Given the description of an element on the screen output the (x, y) to click on. 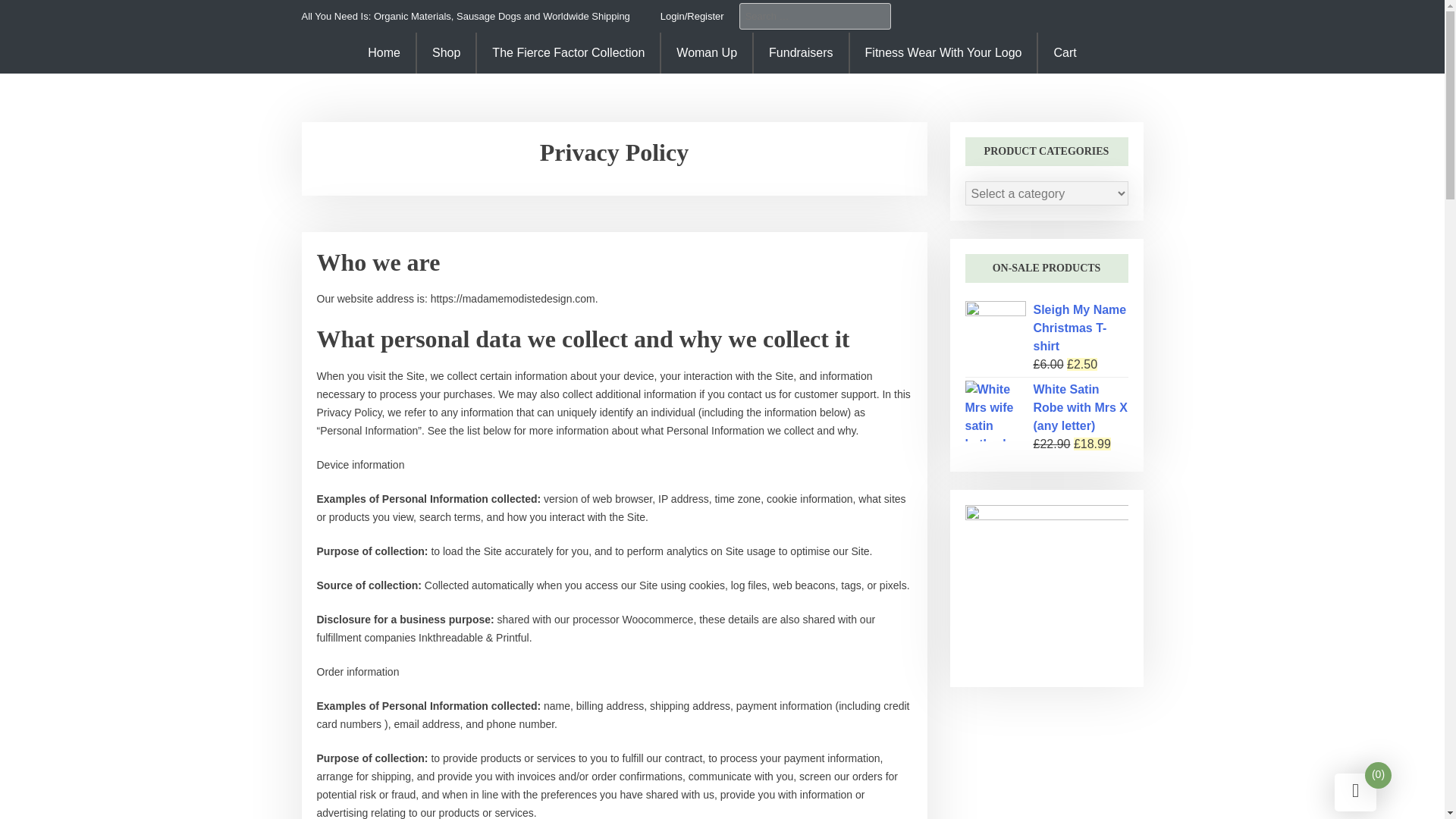
Shop (446, 52)
The Fierce Factor Collection (568, 52)
Home (384, 52)
Cart (1063, 52)
Woman Up (706, 52)
Fundraisers (800, 52)
Sleigh My Name Christmas T-shirt (1044, 328)
Search (35, 11)
Fitness Wear With Your Logo (943, 52)
